Given the description of an element on the screen output the (x, y) to click on. 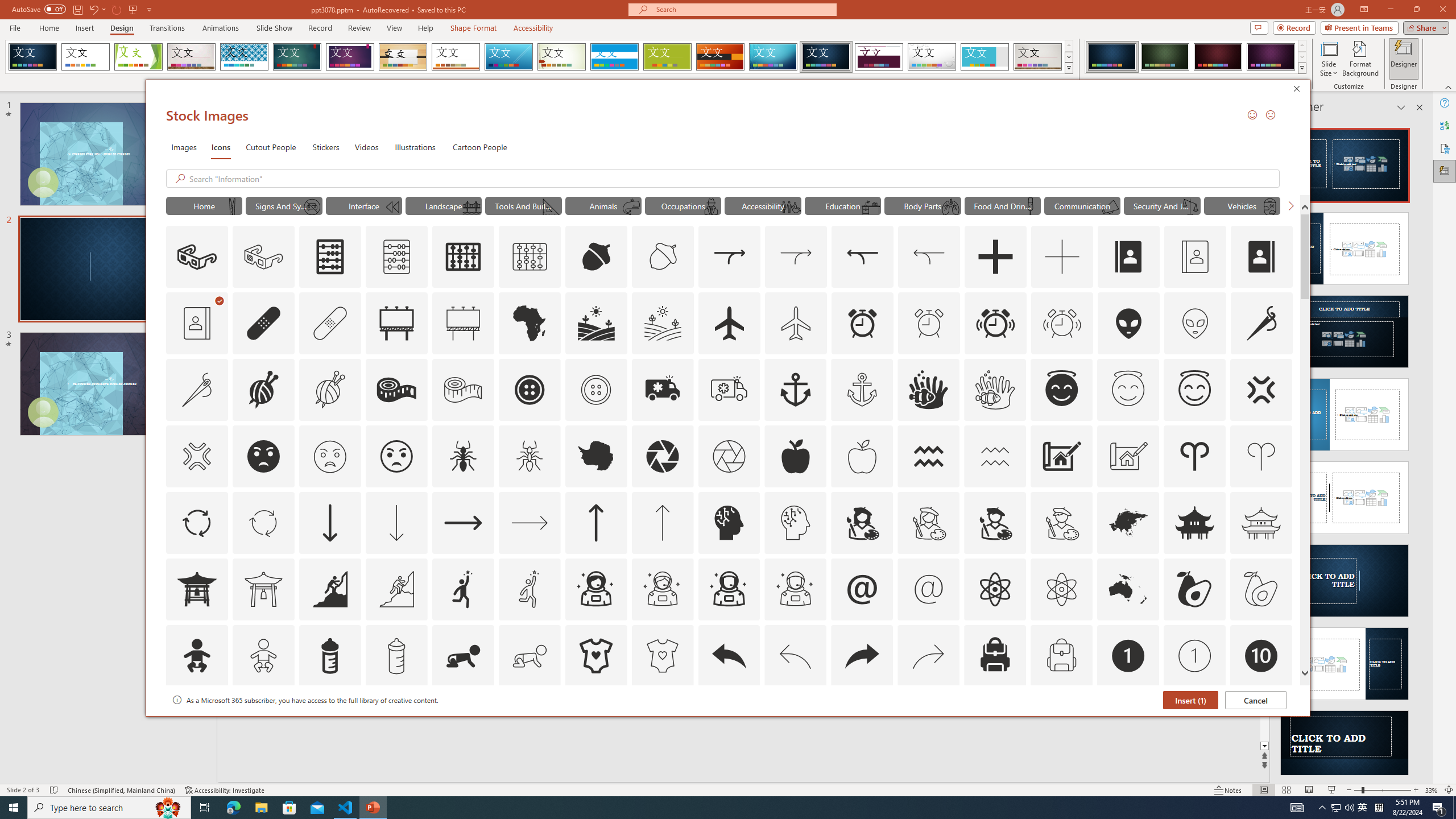
AutomationID: Icons_Africa (529, 323)
AutomationID: Icons_Megaphone_M (1110, 206)
AutomationID: Icons_AngryFace_M (329, 455)
Damask (826, 56)
AutomationID: Icons_ArrowUp_M (662, 522)
AutomationID: Icons_AdhesiveBandage_M (330, 323)
Wisp (561, 56)
AutomationID: Icons_AlienFace (1128, 323)
